Given the description of an element on the screen output the (x, y) to click on. 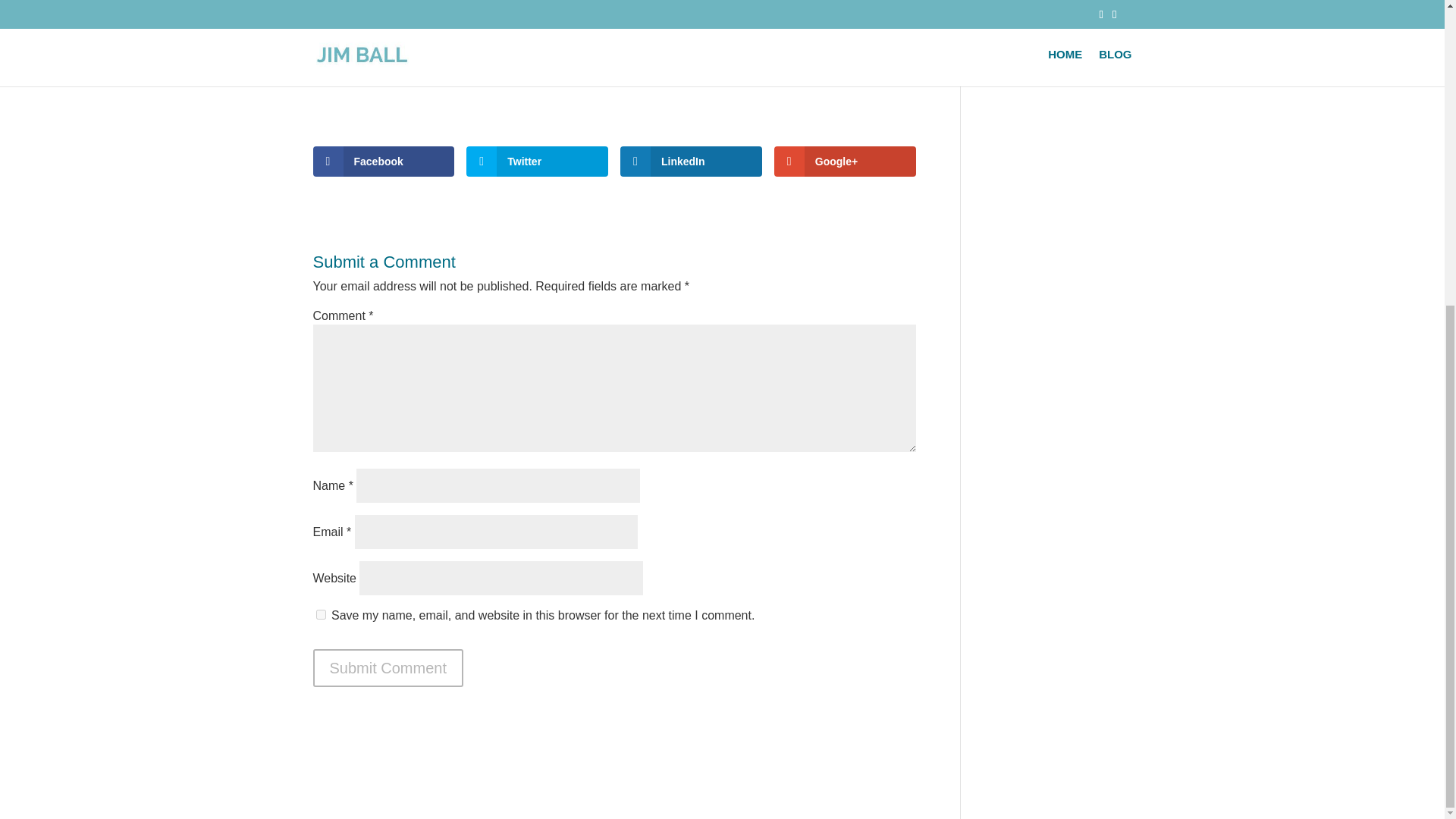
LinkedIn (690, 161)
yes (319, 614)
Twitter (536, 161)
Submit Comment (388, 668)
Submit Comment (388, 668)
Facebook (383, 161)
